Given the description of an element on the screen output the (x, y) to click on. 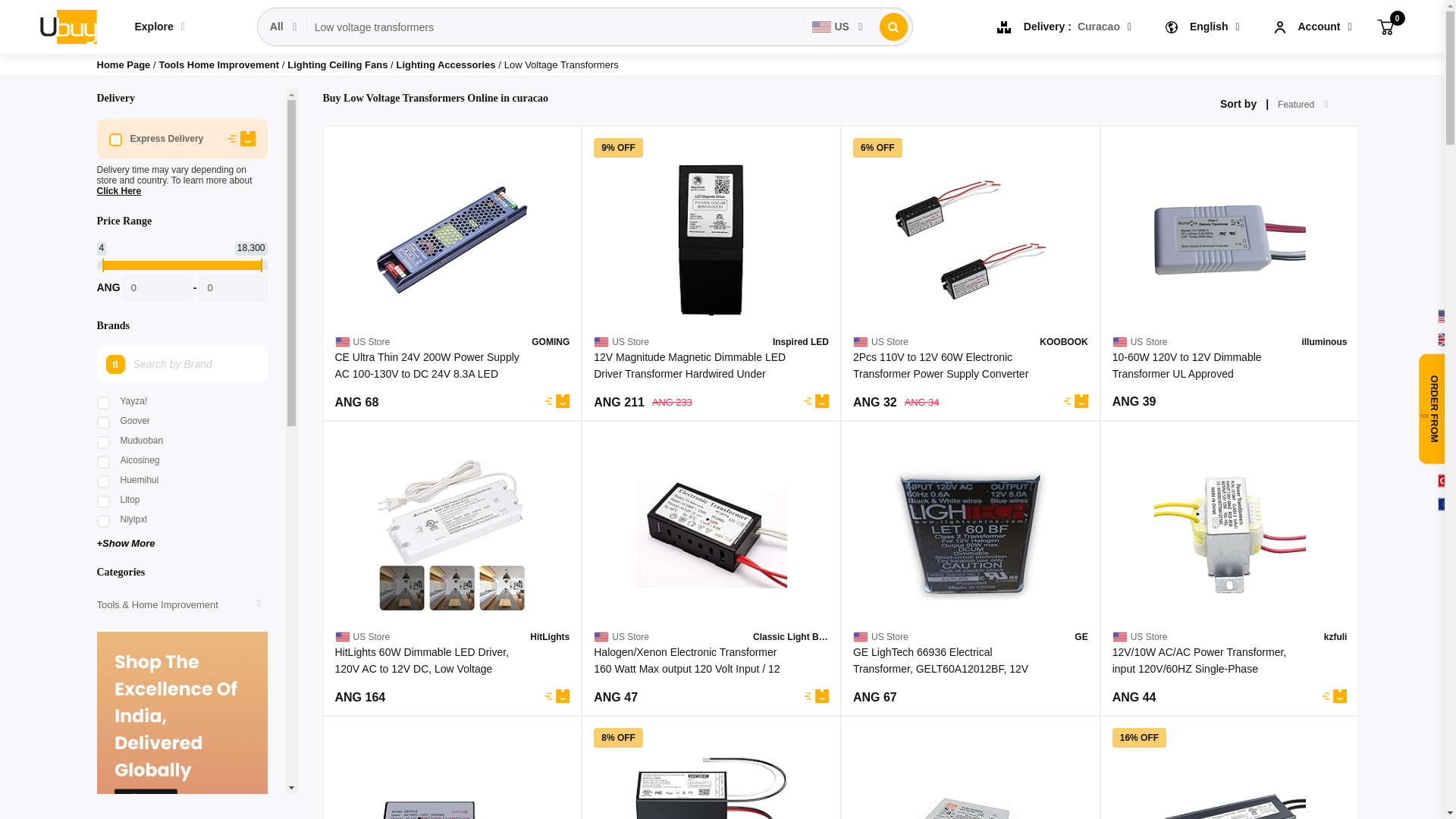
All (283, 26)
US (837, 26)
Ubuy (67, 26)
0 (1385, 26)
Tools Home Improvement (219, 64)
Cart (1385, 26)
Home Page (124, 64)
0 (156, 288)
Tools Home Improvement (219, 64)
Low voltage transformers (556, 26)
Home Page (124, 64)
0 (232, 288)
Low voltage transformers (556, 26)
